Given the description of an element on the screen output the (x, y) to click on. 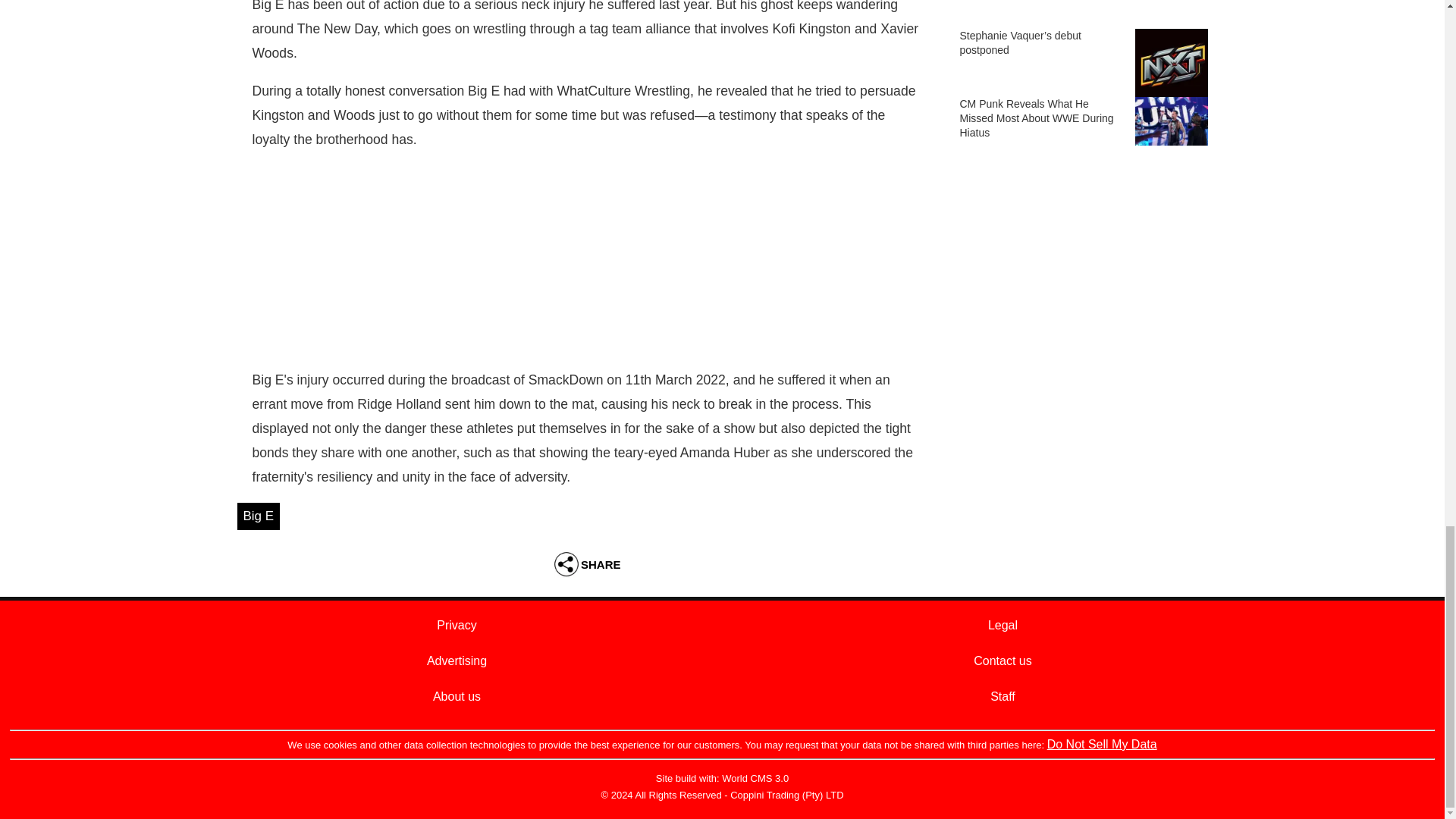
Advertising (456, 660)
Big E (257, 515)
Privacy (456, 625)
Legal (1002, 625)
Contact us (1002, 660)
